Given the description of an element on the screen output the (x, y) to click on. 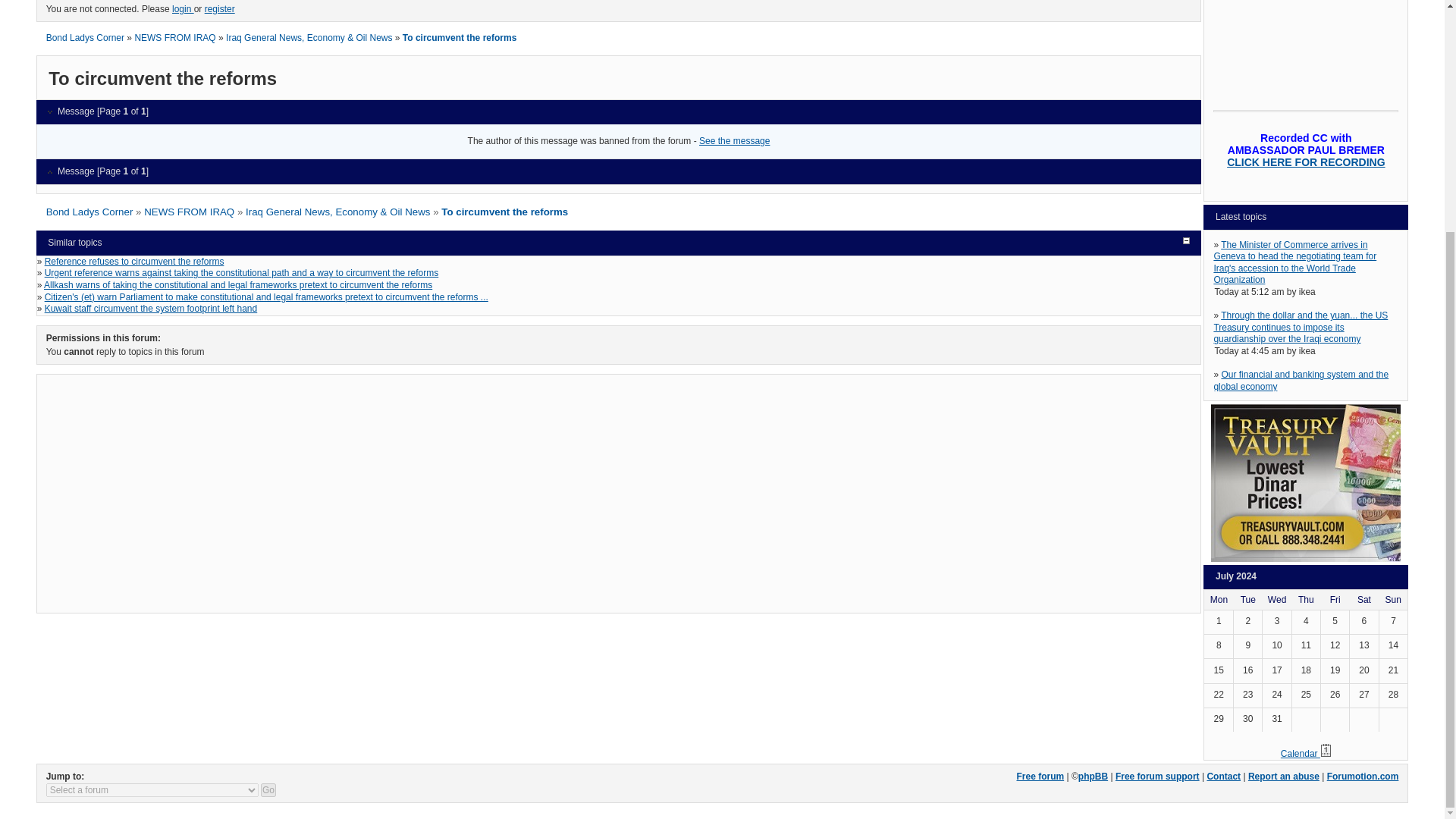
Our financial and banking system and the global economy (1300, 380)
register (219, 9)
Reference refuses to circumvent the reforms (134, 261)
See the message (734, 140)
Our financial and banking system and the global economy (1300, 380)
Reference refuses to circumvent the reforms (134, 261)
NEWS FROM IRAQ (189, 211)
CLICK HERE FOR RECORDING (1305, 162)
To circumvent the reforms (504, 211)
Go (268, 789)
